Given the description of an element on the screen output the (x, y) to click on. 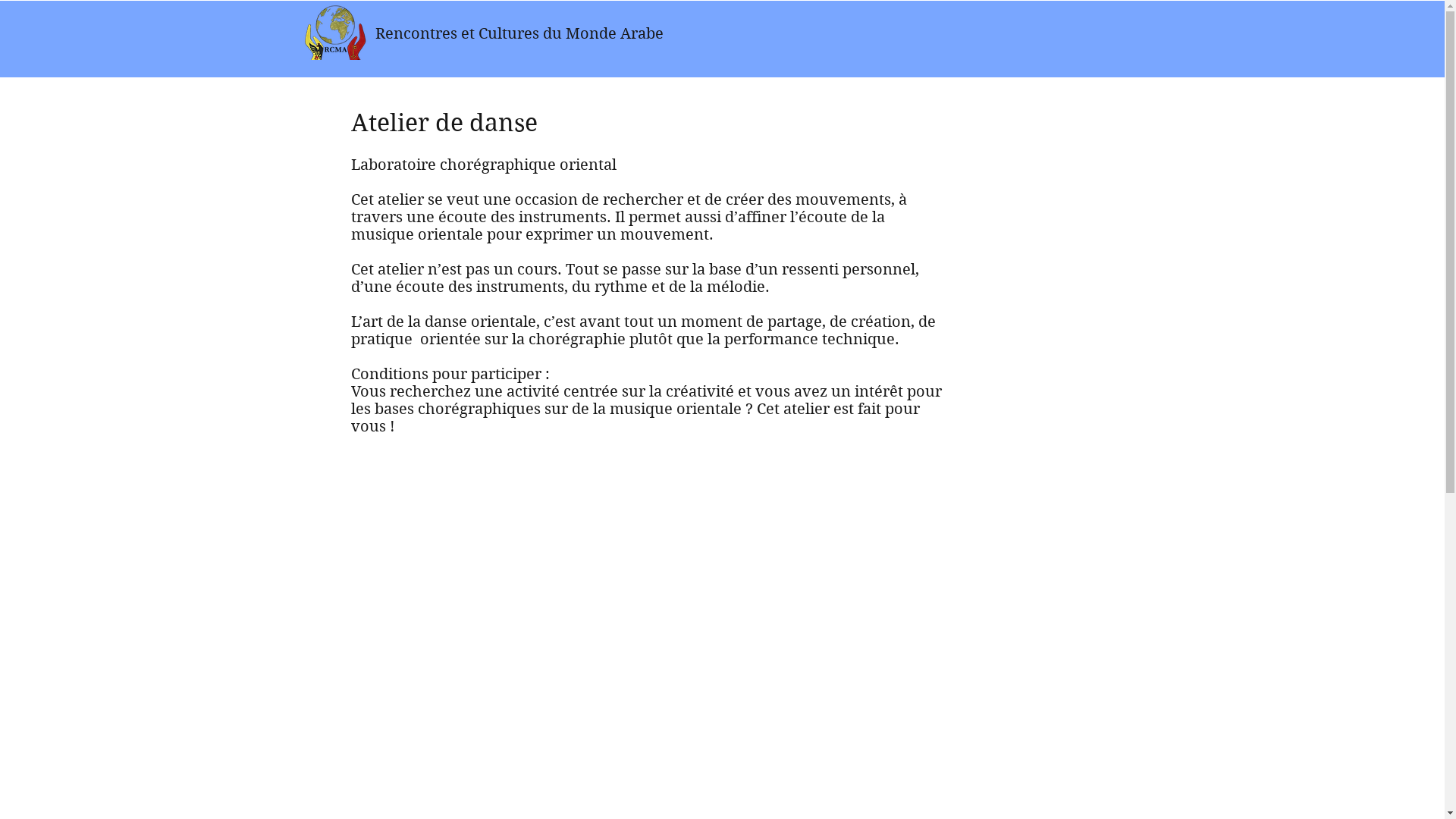
du Monde Arabe Element type: text (602, 33)
Rencontres et Cultures  Element type: text (458, 33)
